Given the description of an element on the screen output the (x, y) to click on. 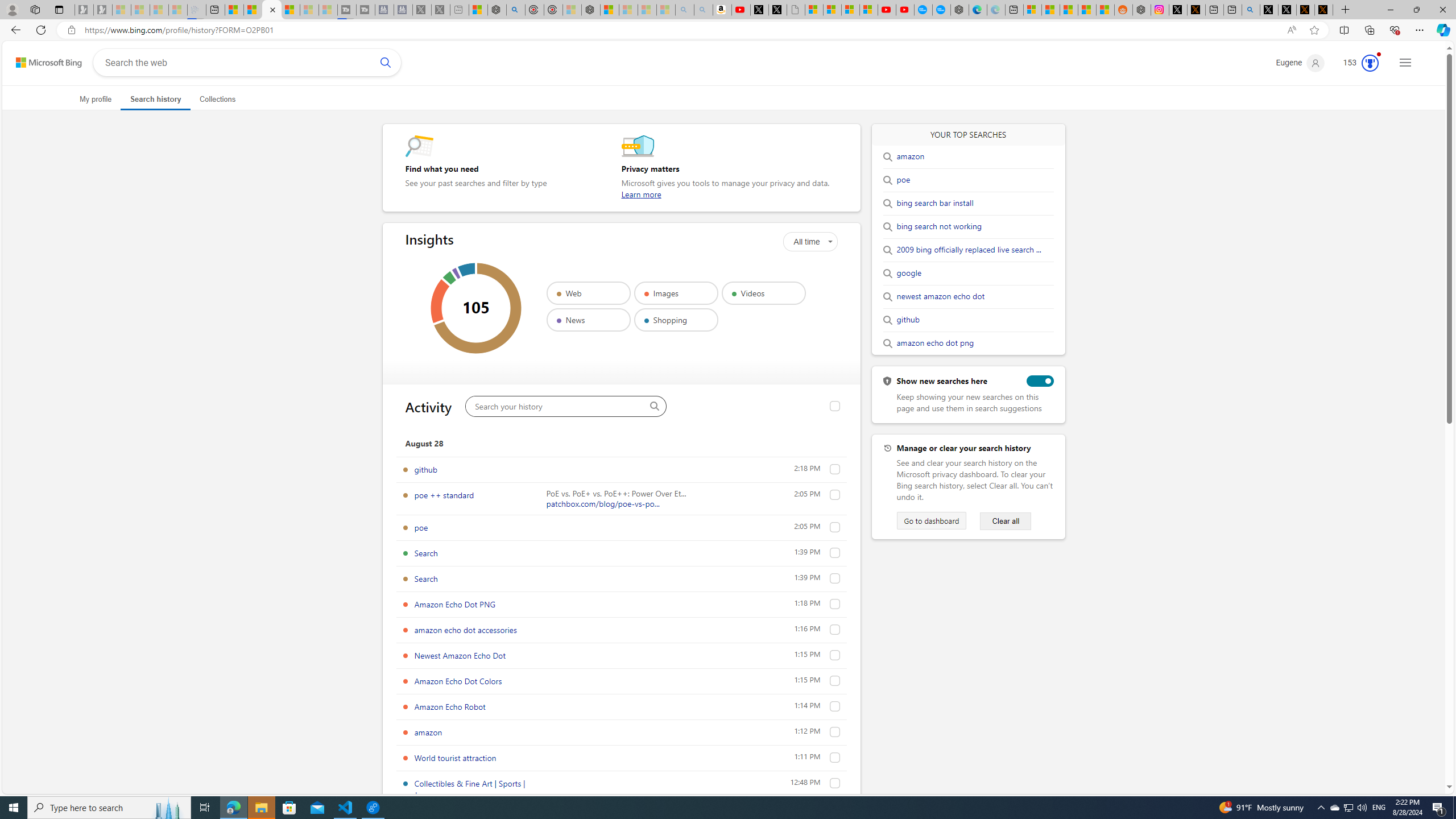
poe (903, 180)
poe ++ standard (834, 494)
Newest Amazon Echo Dot (834, 655)
Selected time filter is All time (810, 241)
My profile (96, 99)
